Given the description of an element on the screen output the (x, y) to click on. 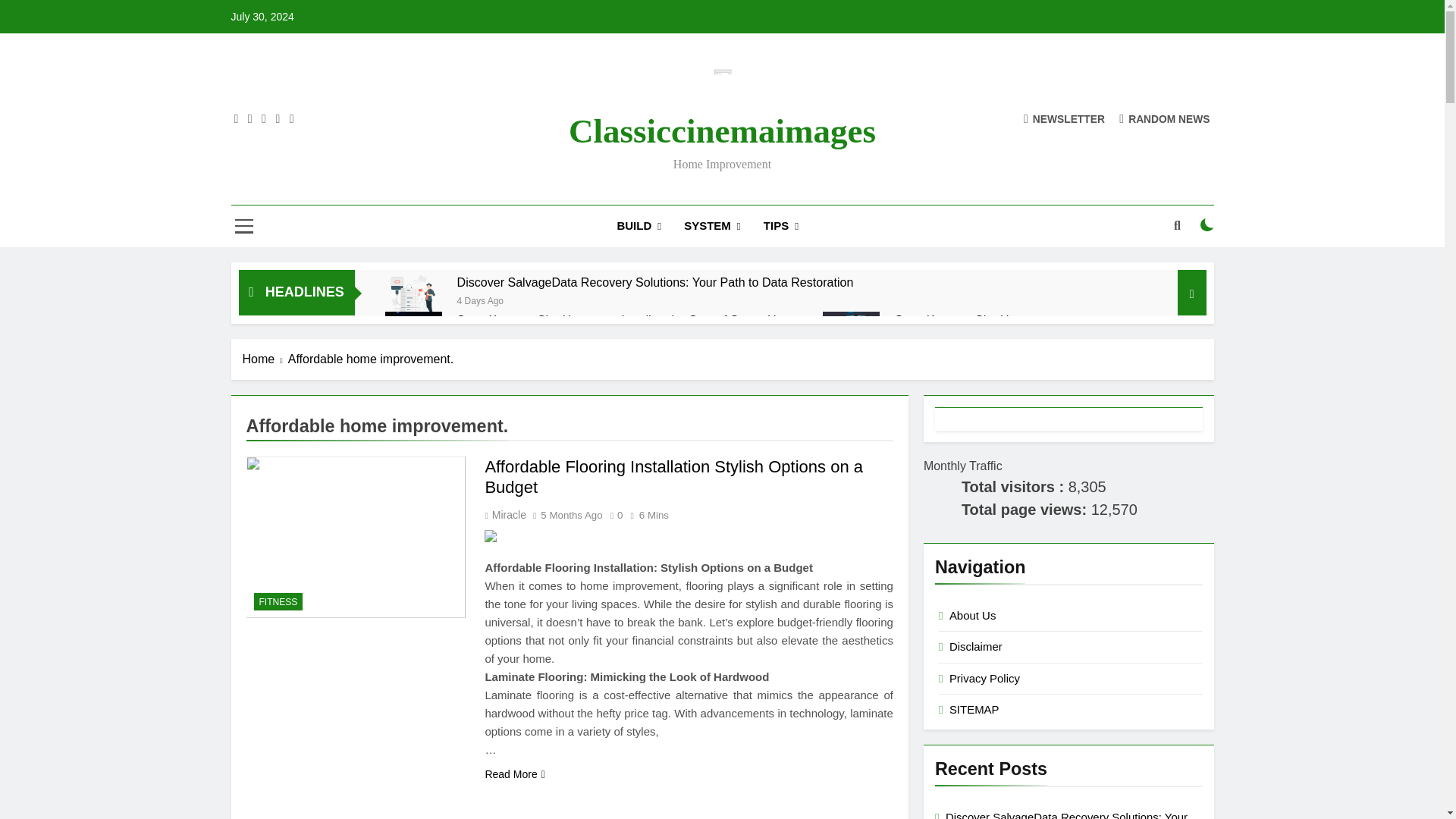
Song Kang as Cha Hyun-soo (973, 319)
Song Kang as Cha Hyun-soo (850, 330)
TIPS (780, 226)
NEWSLETTER (1064, 118)
SYSTEM (712, 226)
on (1206, 224)
Song Kang as Cha Hyun-soo: Leading the Cast of Sweet Home (628, 319)
RANDOM NEWS (1164, 118)
Song Kang as Cha Hyun-soo: Leading the Cast of Sweet Home (628, 319)
Song Kang as Cha Hyun-soo (973, 319)
BUILD (638, 226)
Classiccinemaimages (722, 130)
